Given the description of an element on the screen output the (x, y) to click on. 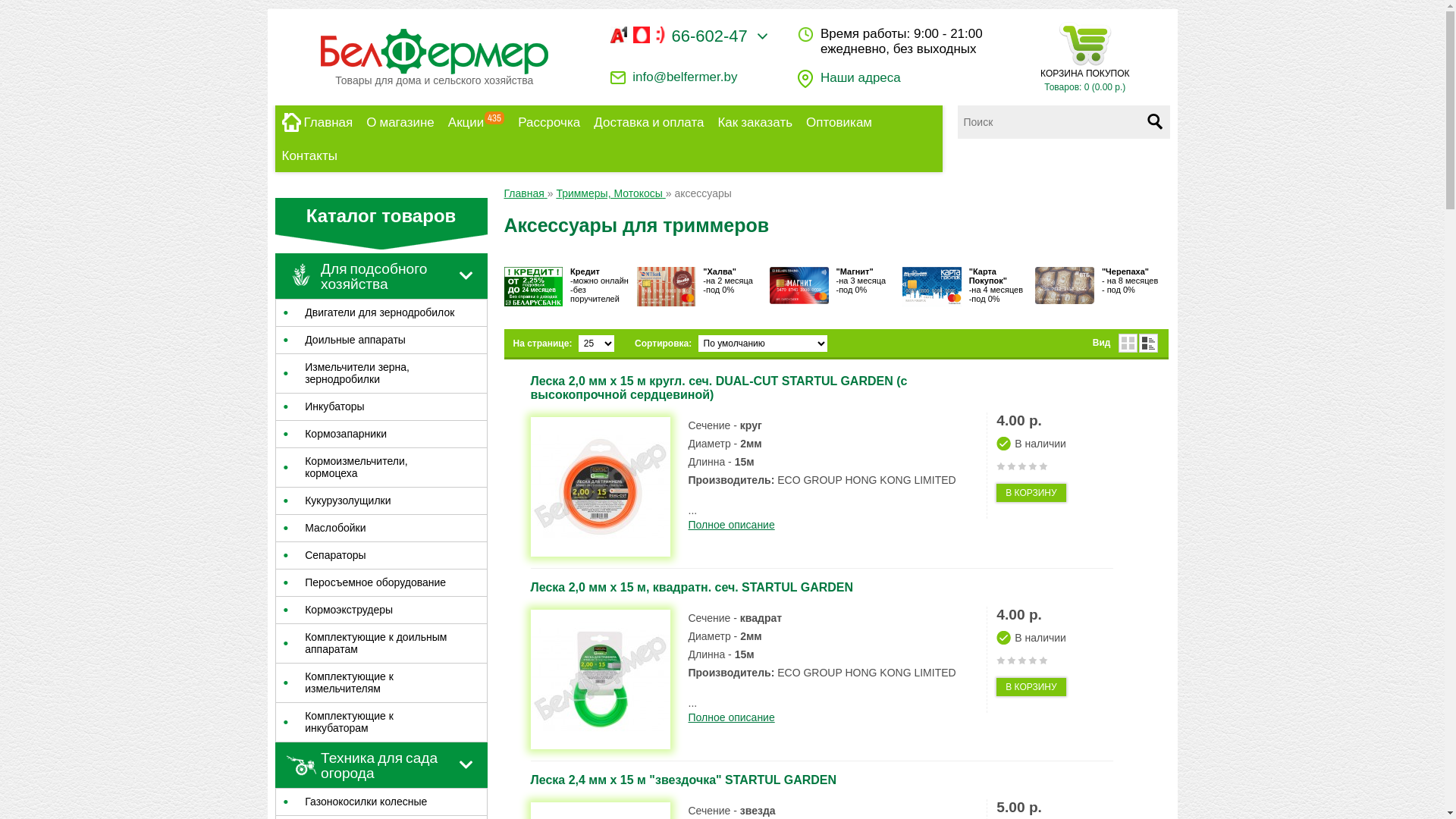
info@belfermer.by Element type: text (684, 76)
66-602-47 Element type: text (688, 41)
